Given the description of an element on the screen output the (x, y) to click on. 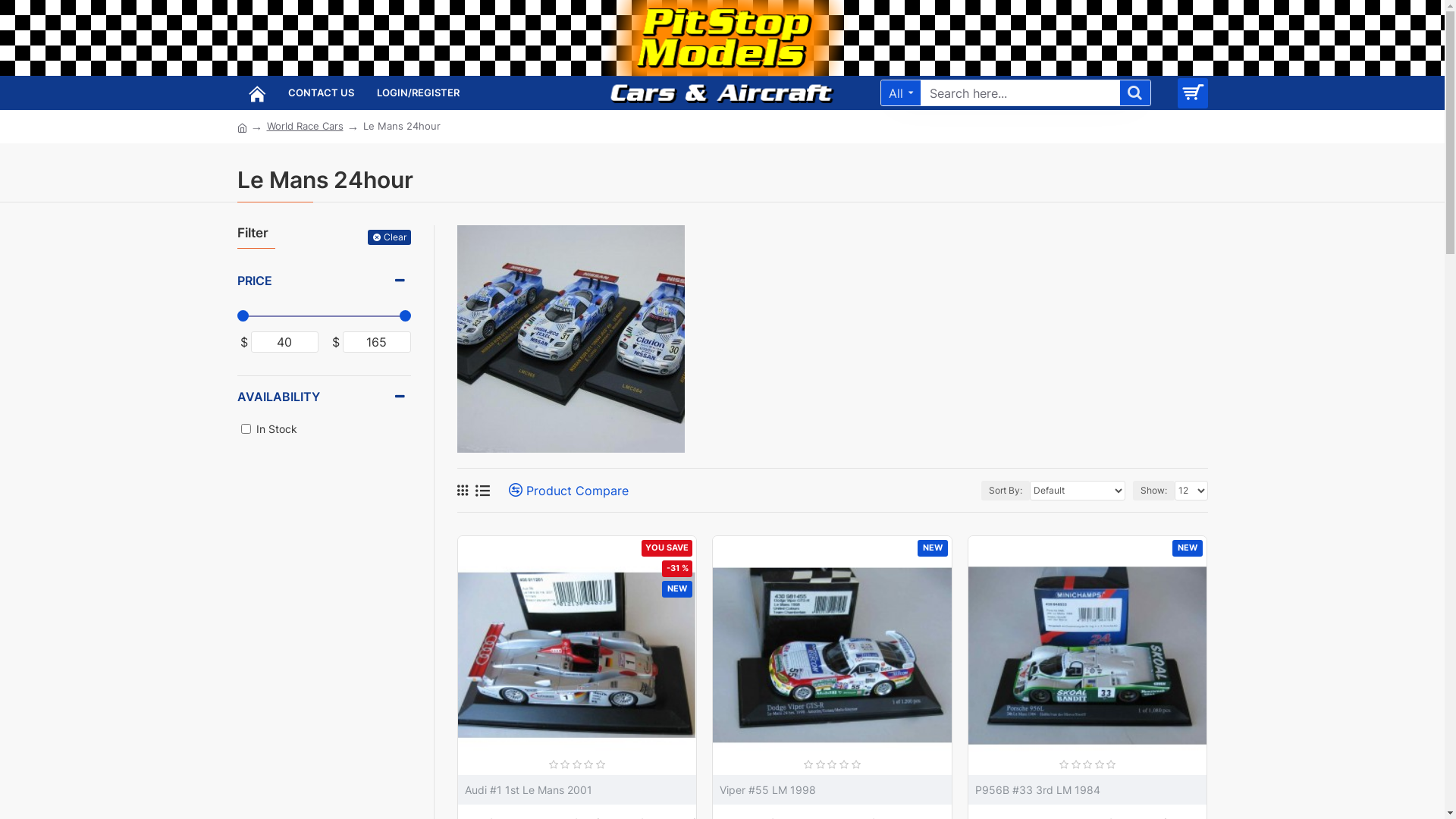
PRICE Element type: text (323, 280)
Le Mans 24hour Element type: hover (570, 338)
World Race Cars Element type: text (304, 126)
LOGIN/REGISTER Element type: text (417, 92)
Product Compare Element type: text (562, 490)
CONTACT US Element type: text (320, 92)
Le Mans 24hour Element type: text (400, 126)
AVAILABILITY Element type: text (323, 396)
Clear Element type: text (388, 236)
